Given the description of an element on the screen output the (x, y) to click on. 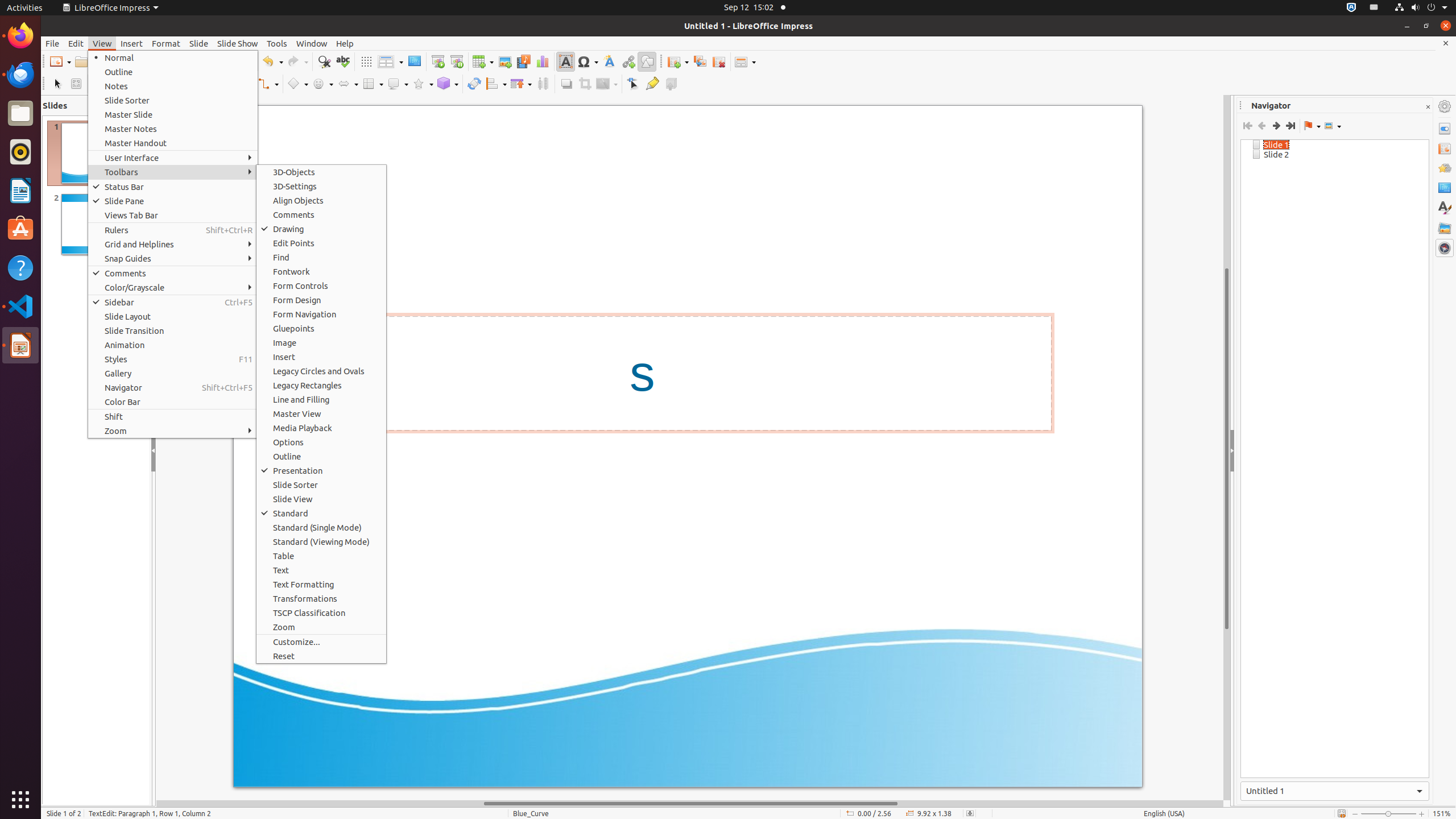
Insert Element type: menu (131, 43)
Horizontal scroll bar Element type: scroll-bar (689, 803)
Customize... Element type: menu-item (321, 641)
Next Slide Element type: push-button (1275, 125)
Slide View Element type: check-menu-item (321, 498)
